Given the description of an element on the screen output the (x, y) to click on. 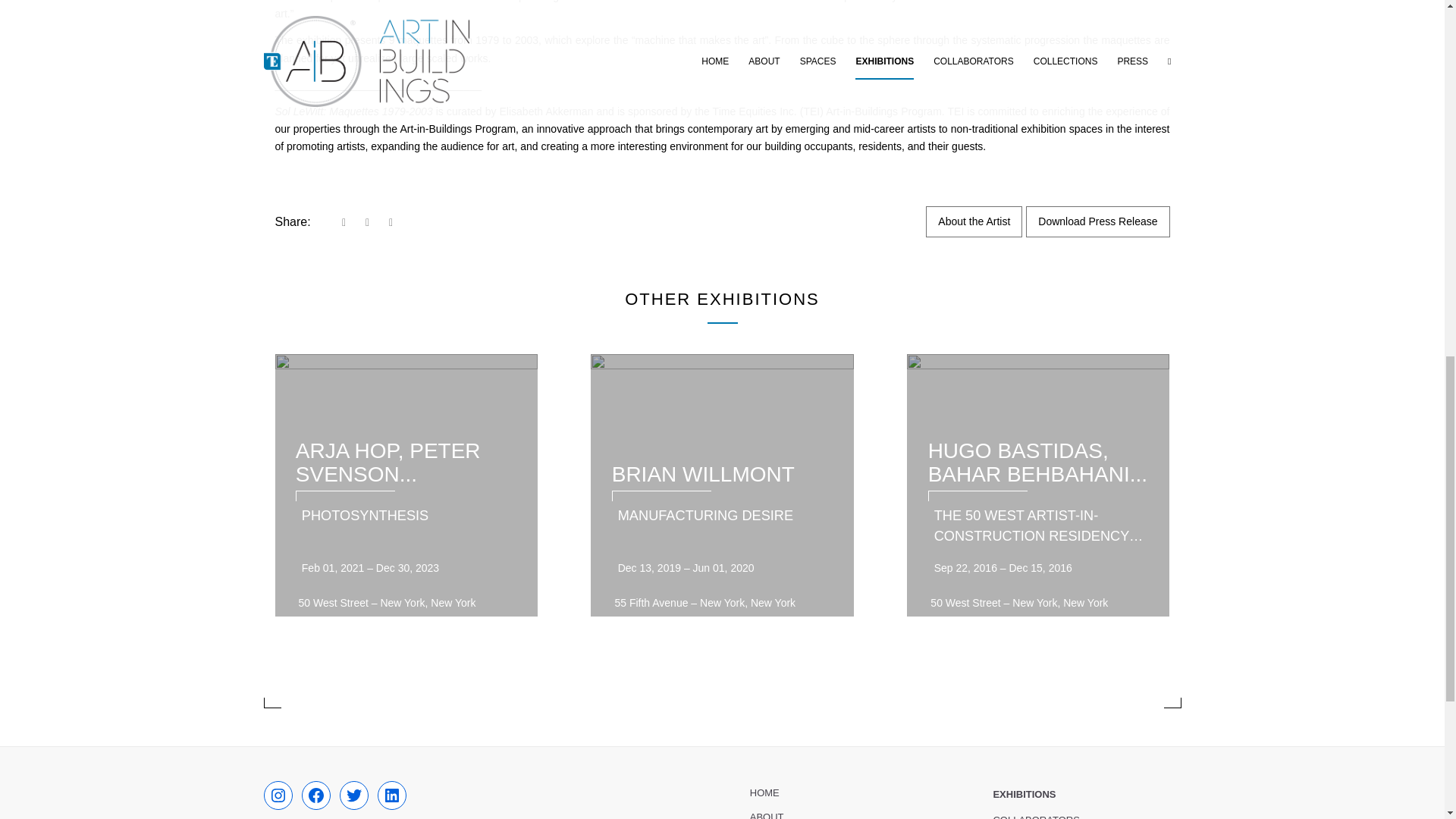
ABOUT (843, 812)
COLLABORATORS (1086, 813)
TWITTER (352, 795)
FACEBOOK (315, 795)
INSTAGRAM (277, 795)
EXHIBITIONS (1086, 794)
Download Press Release (1097, 221)
HOME (843, 793)
About the Artist (974, 221)
LINKEDIN (390, 795)
